Given the description of an element on the screen output the (x, y) to click on. 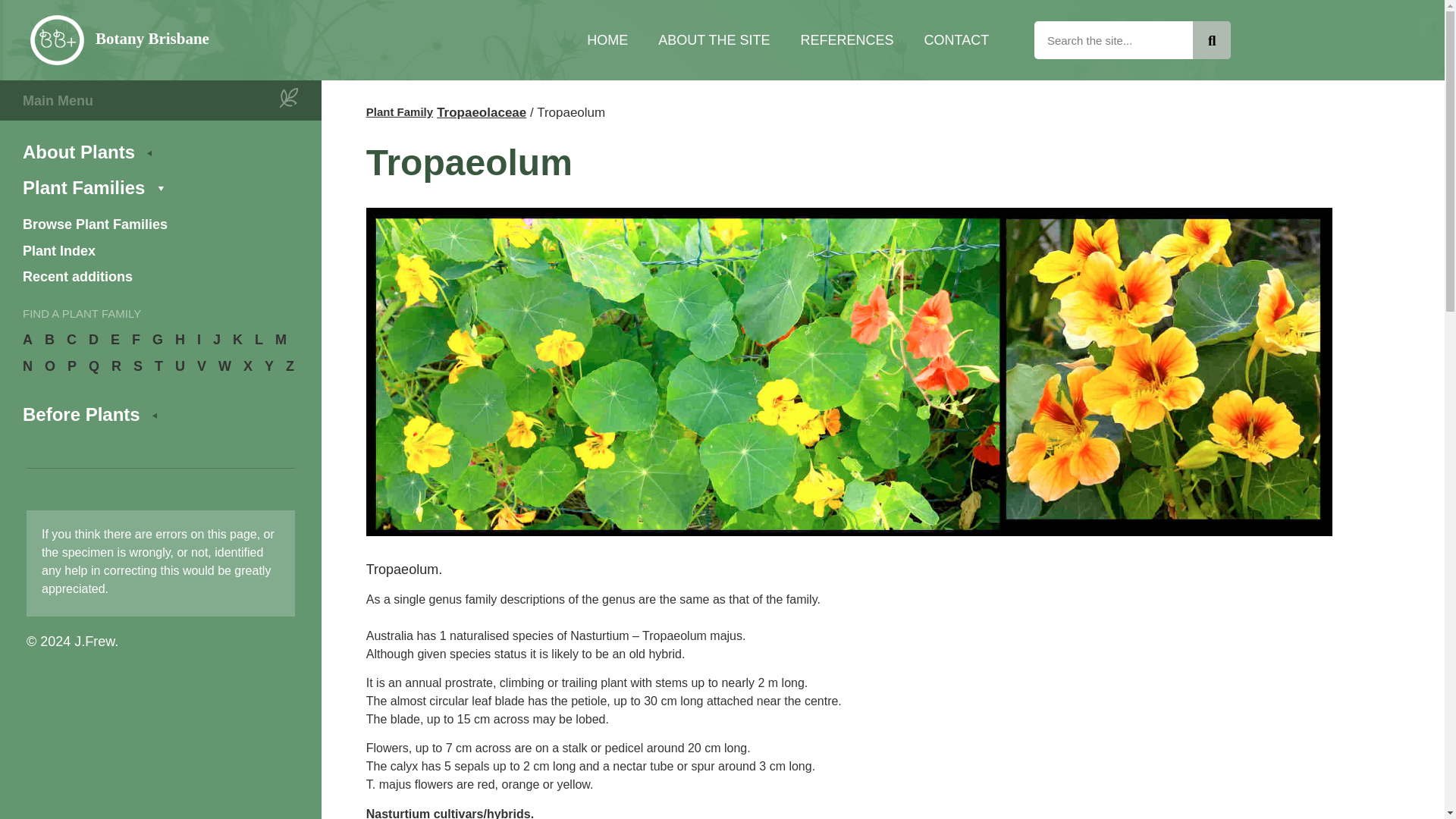
CONTACT (956, 39)
Recent additions (159, 276)
HOME (607, 39)
ABOUT THE SITE (713, 39)
REFERENCES (847, 39)
Browse Plant Families (159, 224)
Plant Index (159, 250)
